Given the description of an element on the screen output the (x, y) to click on. 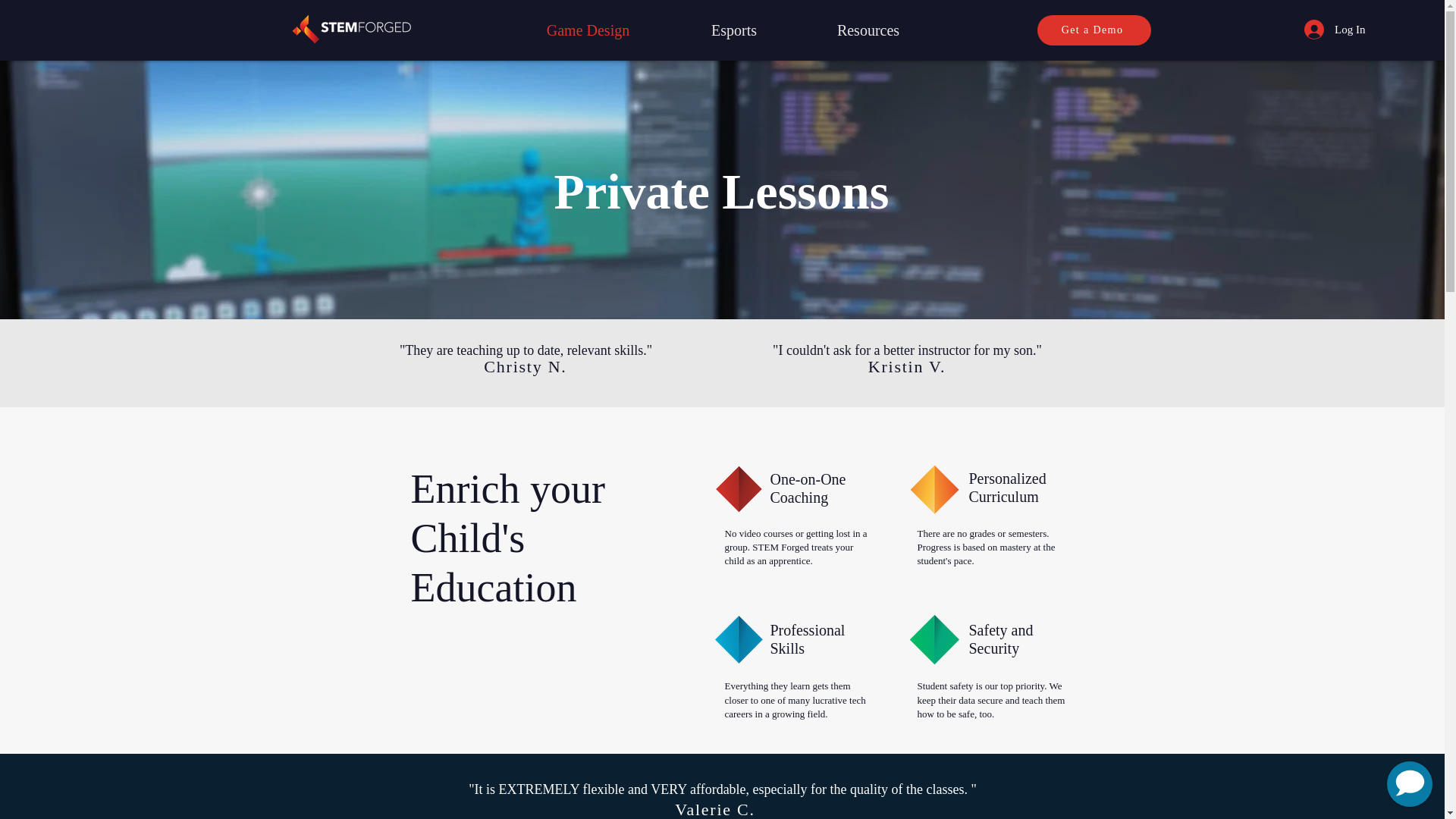
Get a Demo (1093, 30)
Game Design (587, 29)
Esports (732, 29)
Log In (1334, 29)
